Given the description of an element on the screen output the (x, y) to click on. 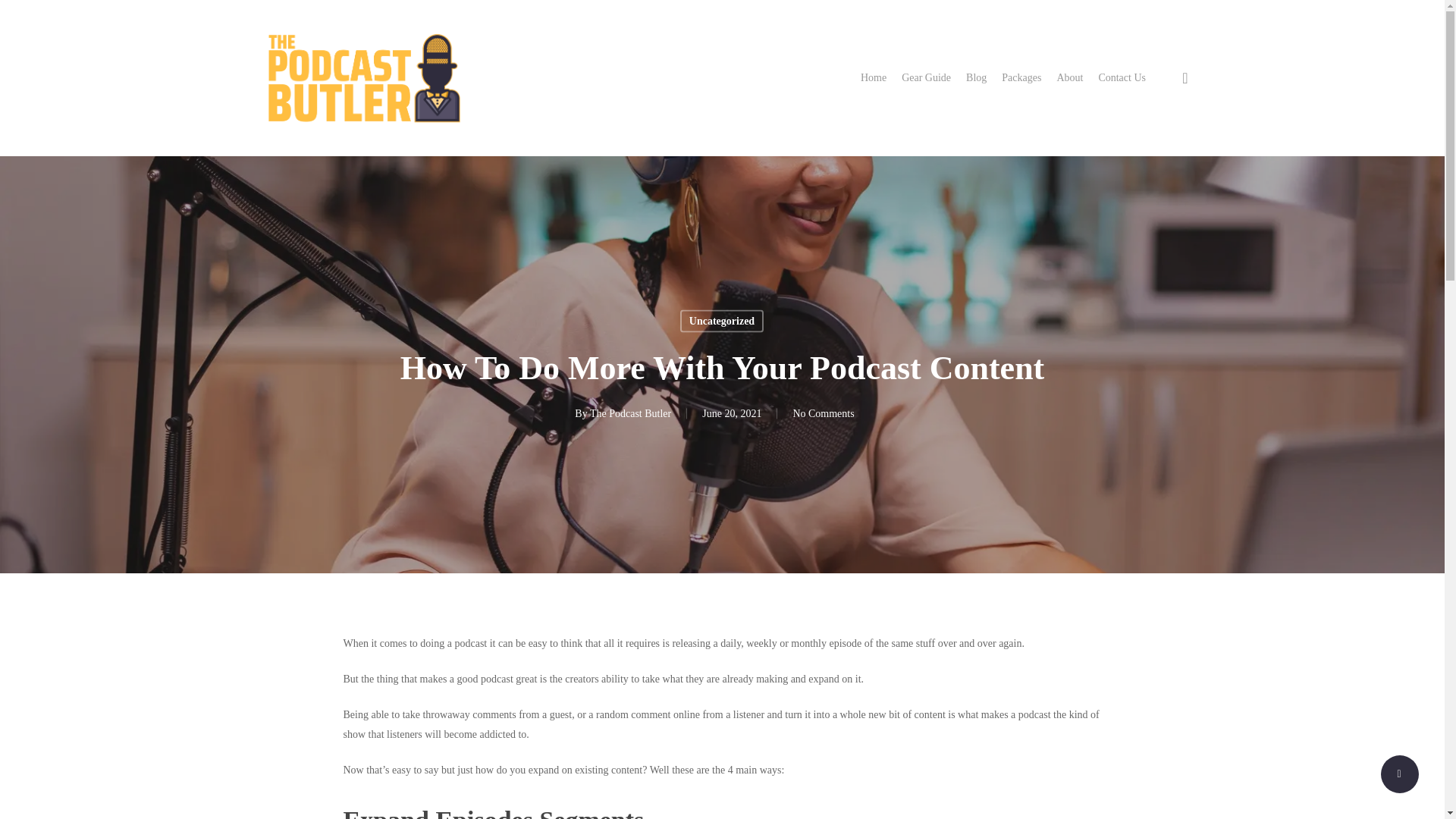
Posts by The Podcast Butler (630, 413)
search (1184, 77)
Home (873, 77)
Uncategorized (720, 320)
No Comments (822, 413)
About (1070, 77)
The Podcast Butler (630, 413)
Contact Us (1121, 77)
Blog (976, 77)
Gear Guide (925, 77)
Packages (1021, 77)
